Given the description of an element on the screen output the (x, y) to click on. 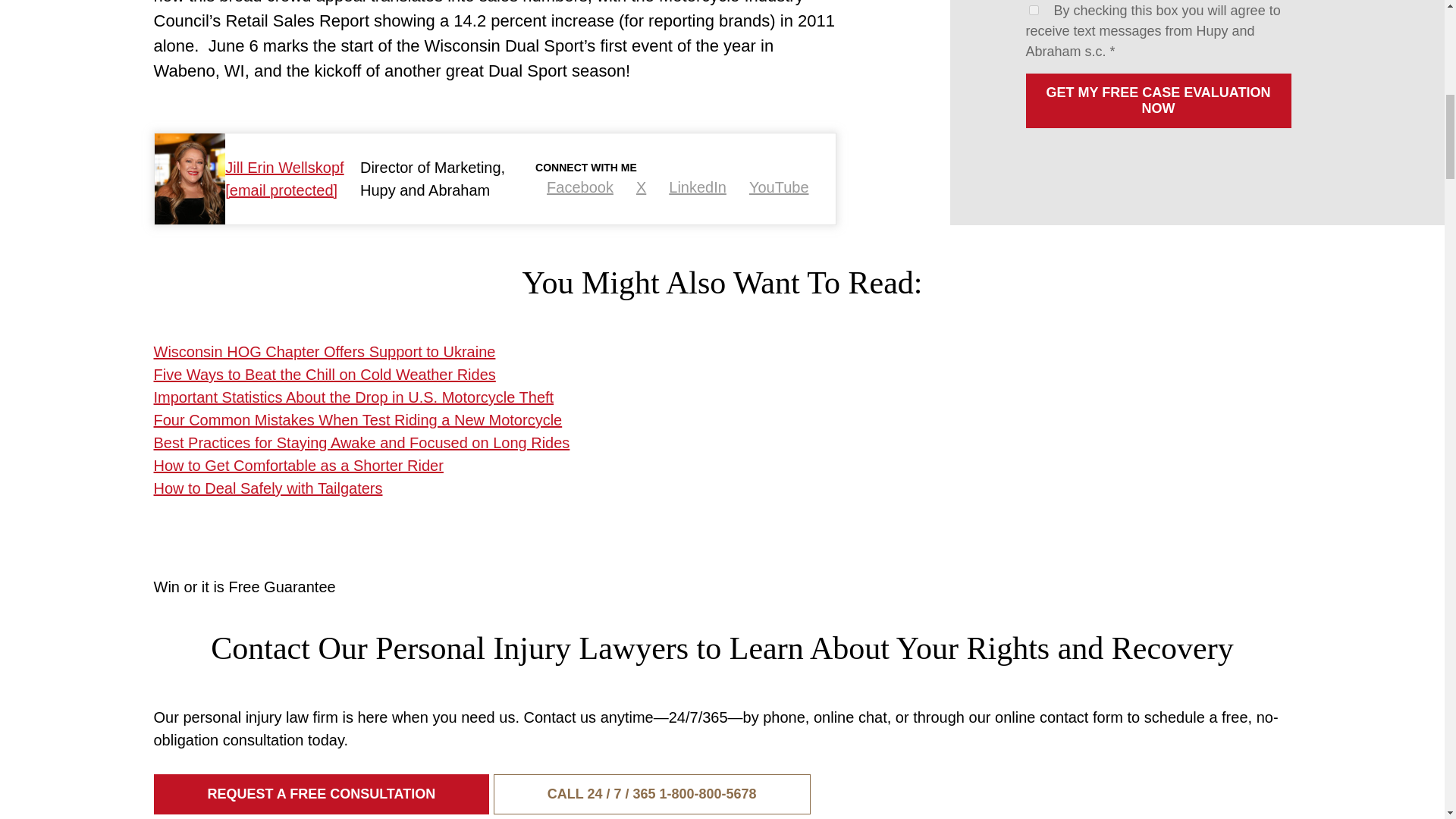
Find me on Facebook (579, 187)
Watch me on YouTube (779, 187)
Connect with me on LinkedIn (697, 187)
